Given the description of an element on the screen output the (x, y) to click on. 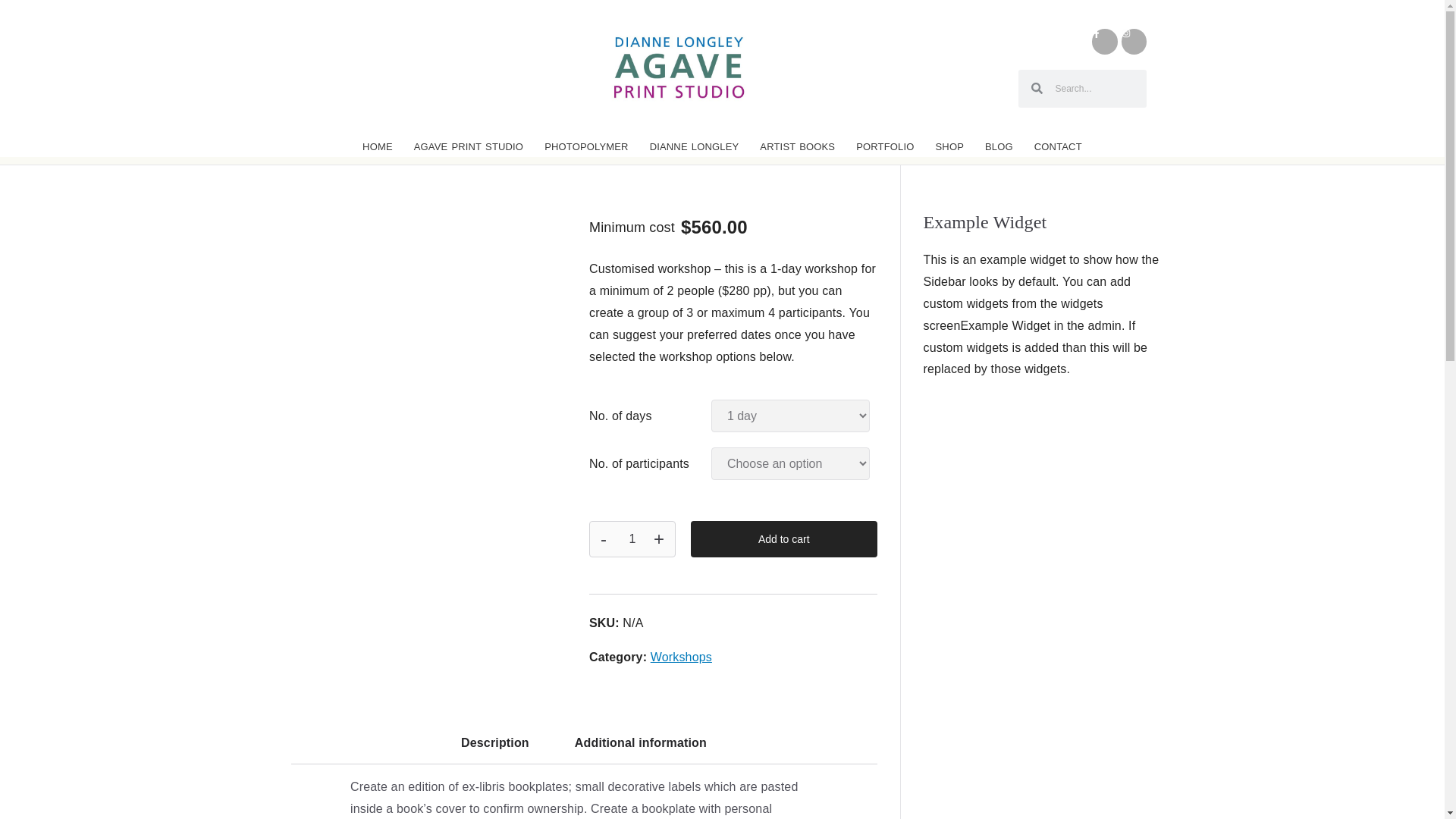
AGAVE PRINT STUDIO (468, 146)
BLOG (998, 146)
CONTACT (1058, 146)
PHOTOPOLYMER (586, 146)
SHOP (949, 146)
HOME (377, 146)
DIANNE LONGLEY (694, 146)
PORTFOLIO (884, 146)
1 (632, 538)
ARTIST BOOKS (797, 146)
